Given the description of an element on the screen output the (x, y) to click on. 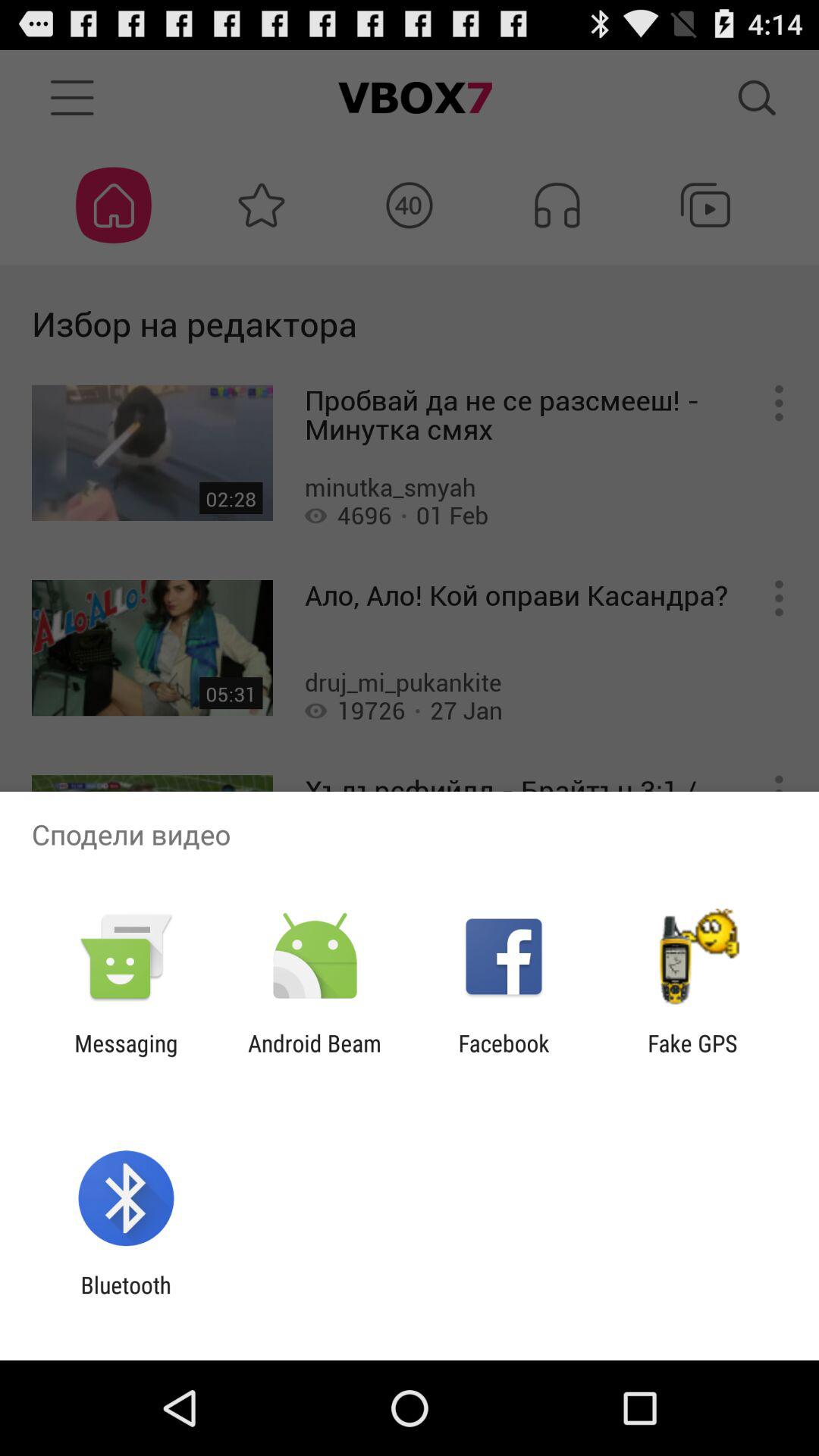
launch the item to the right of the facebook icon (692, 1056)
